Given the description of an element on the screen output the (x, y) to click on. 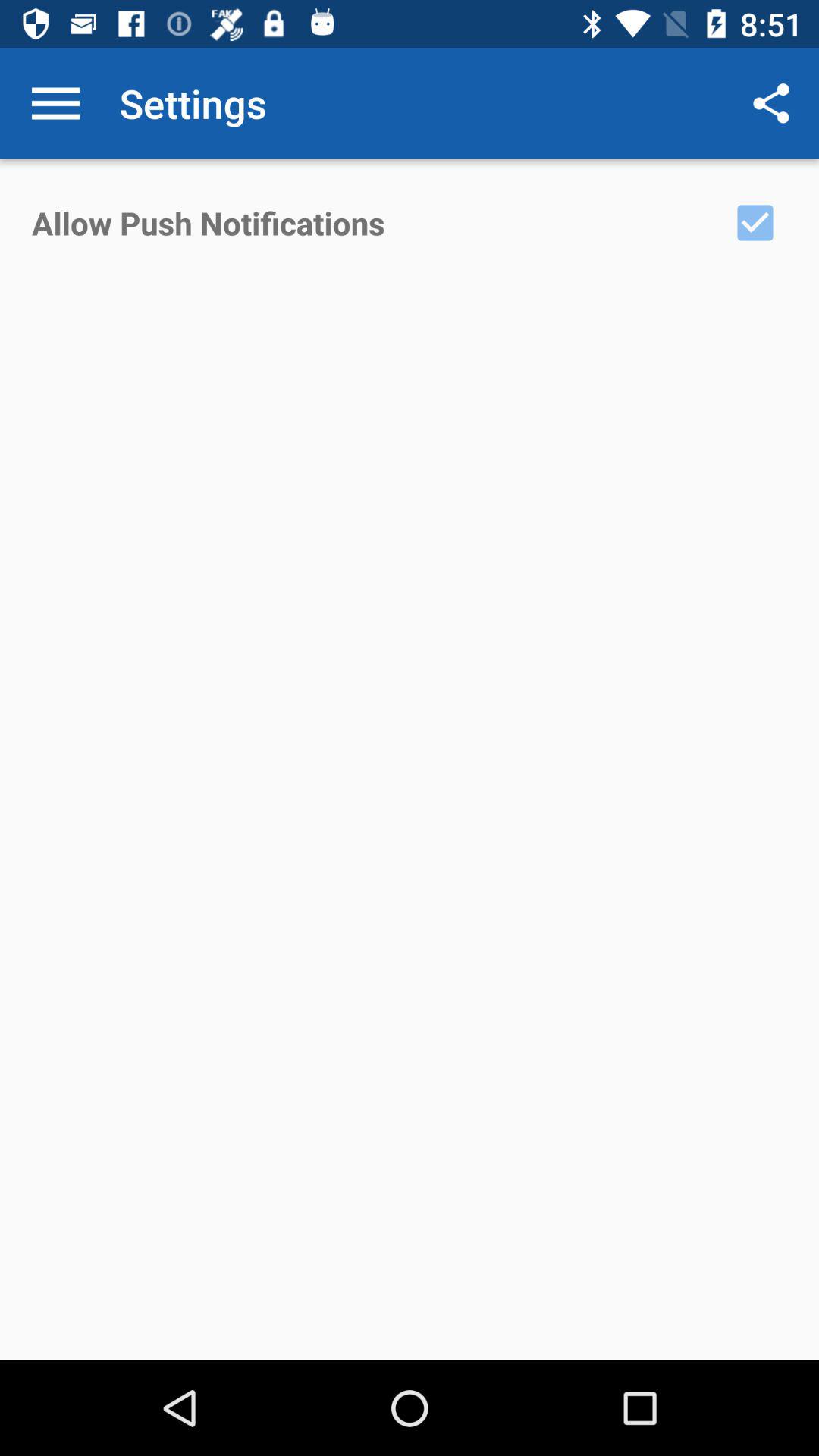
tap the icon to the right of the allow push notifications item (755, 222)
